Given the description of an element on the screen output the (x, y) to click on. 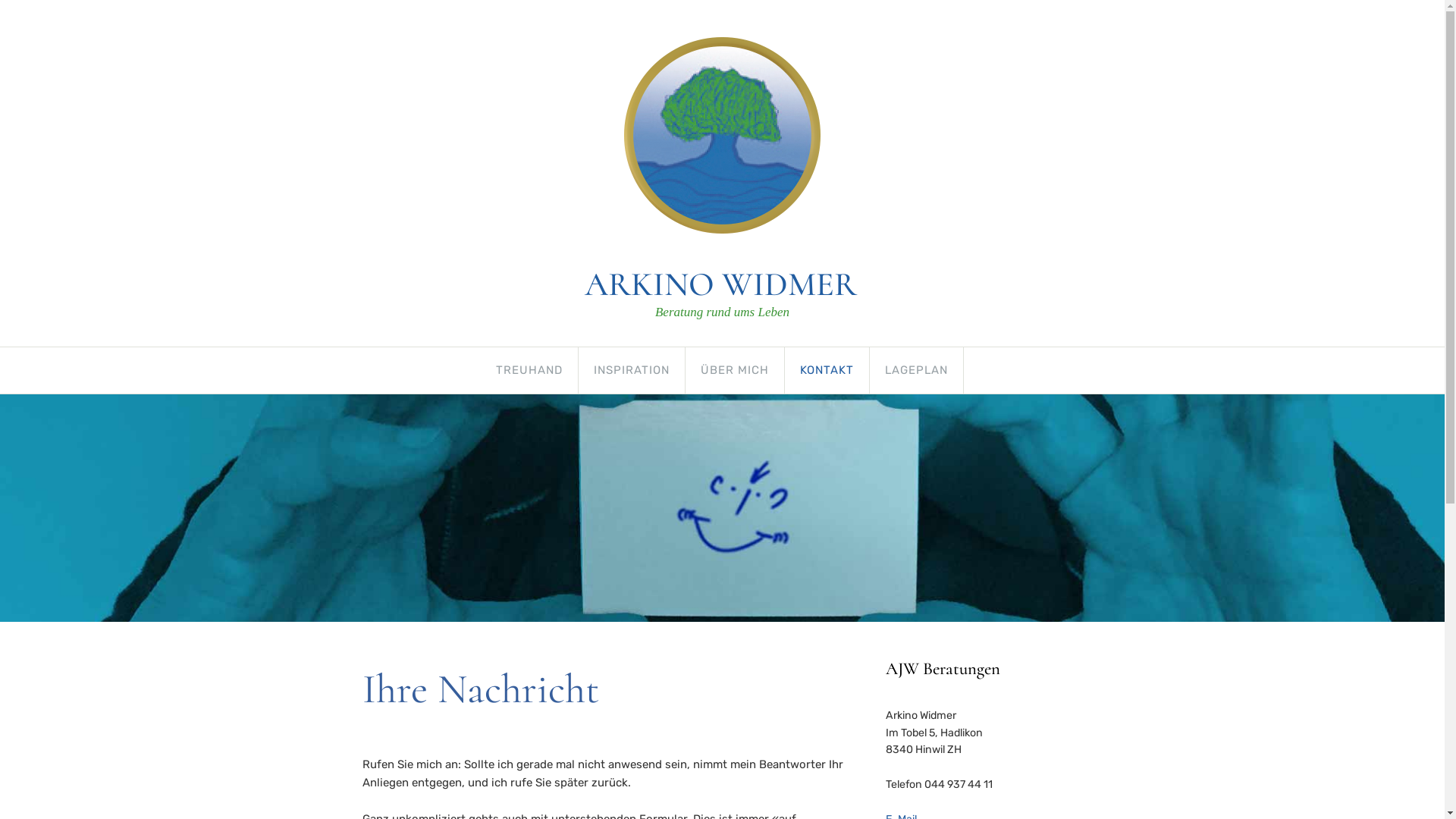
TREUHAND Element type: text (528, 370)
LAGEPLAN Element type: text (916, 370)
INSPIRATION Element type: text (631, 370)
KONTAKT Element type: text (826, 370)
